Given the description of an element on the screen output the (x, y) to click on. 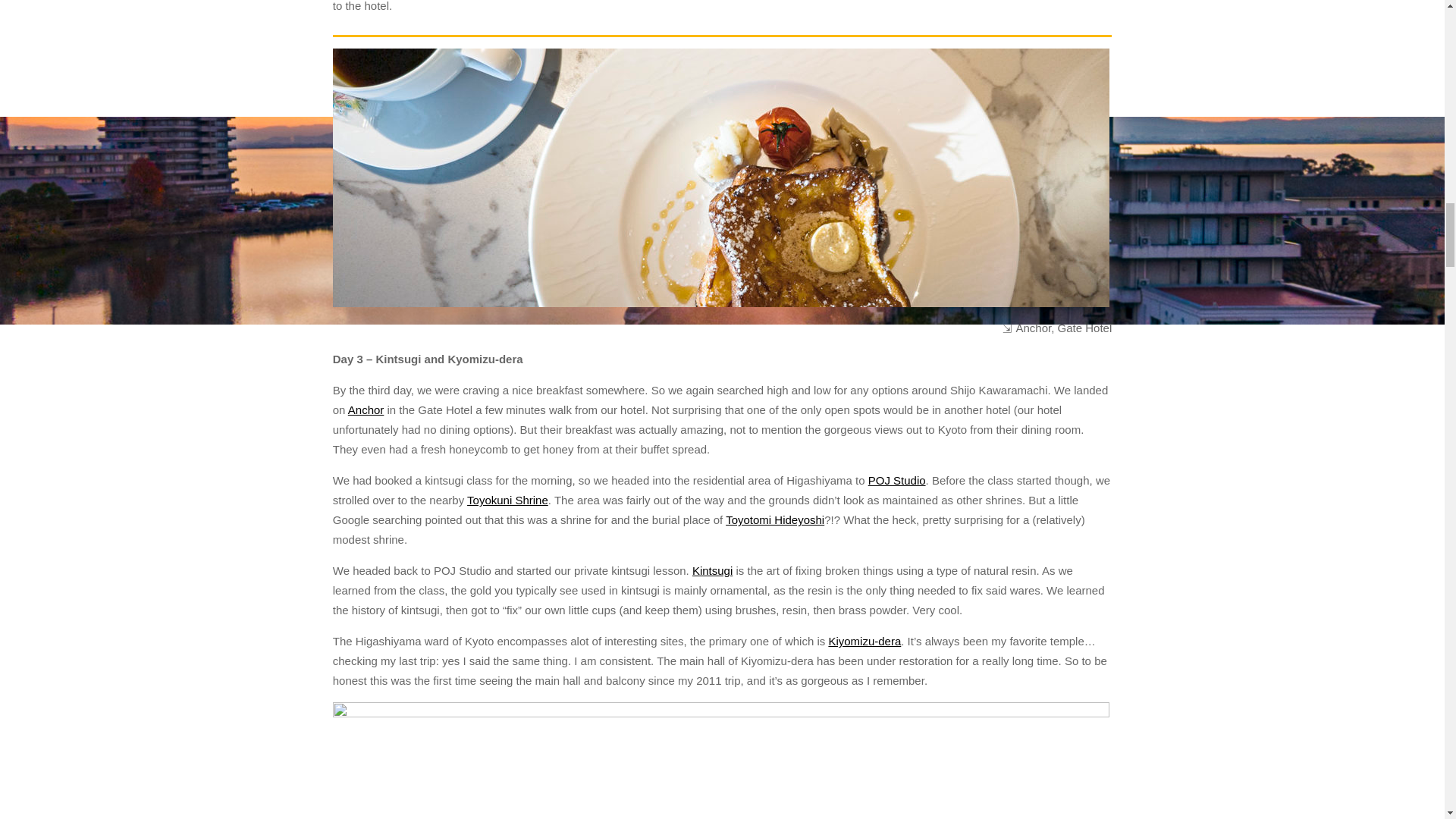
Anchor (365, 409)
Kintsugi (712, 570)
Toyotomi Hideyoshi (774, 519)
Toyokuni Shrine (507, 499)
Kiyomizu-dera (864, 640)
POJ Studio (896, 480)
